Given the description of an element on the screen output the (x, y) to click on. 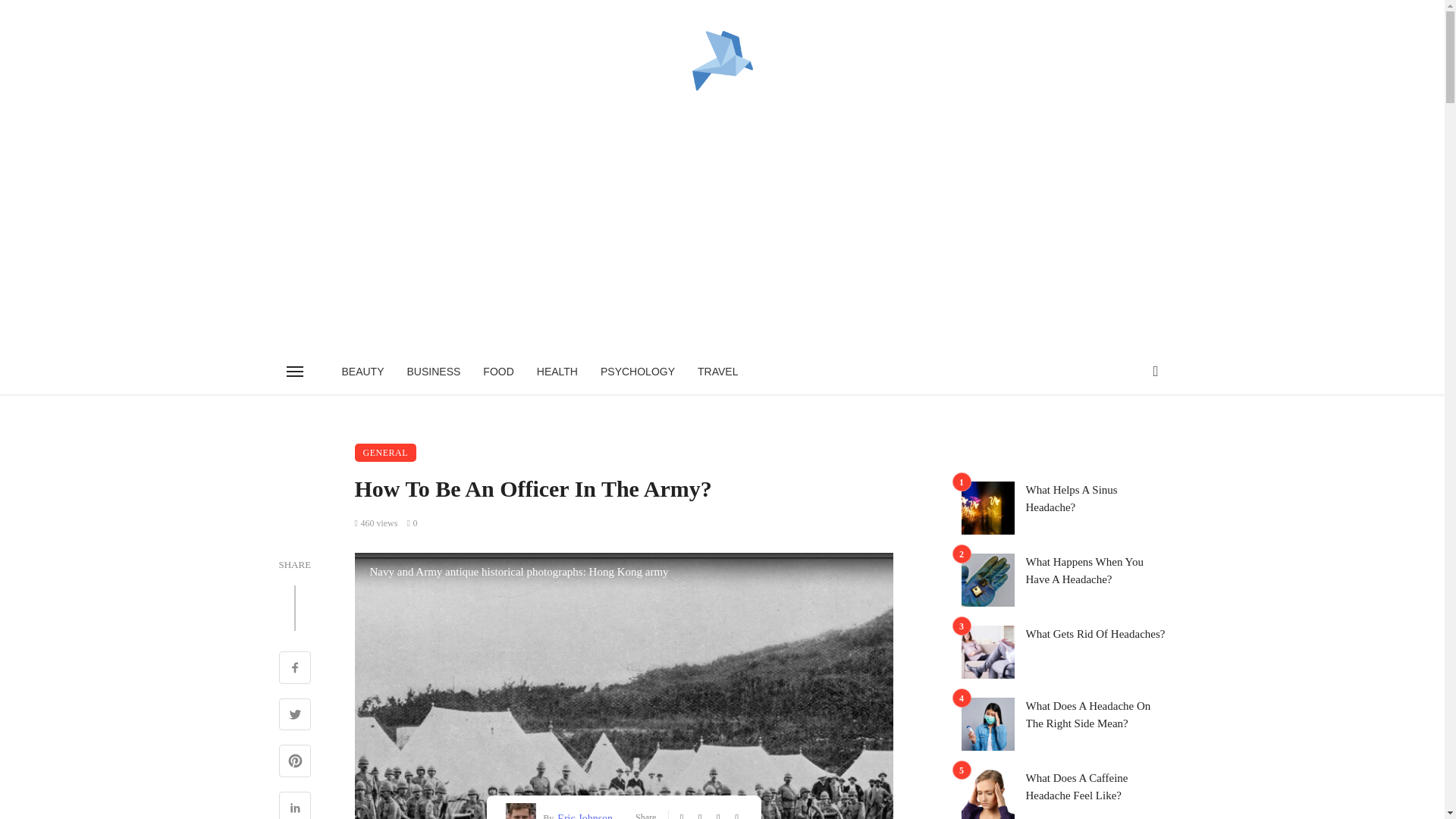
Share on Linkedin (295, 805)
Eric Johnson (582, 814)
Posts by Eric Johnson (582, 814)
Share on Pinterest (295, 762)
GENERAL (385, 452)
0 Comments (411, 522)
BUSINESS (433, 370)
BEAUTY (363, 370)
Share on Facebook (295, 669)
TRAVEL (717, 370)
Share on Twitter (295, 716)
FOOD (497, 370)
0 (411, 522)
PSYCHOLOGY (637, 370)
HEALTH (557, 370)
